Given the description of an element on the screen output the (x, y) to click on. 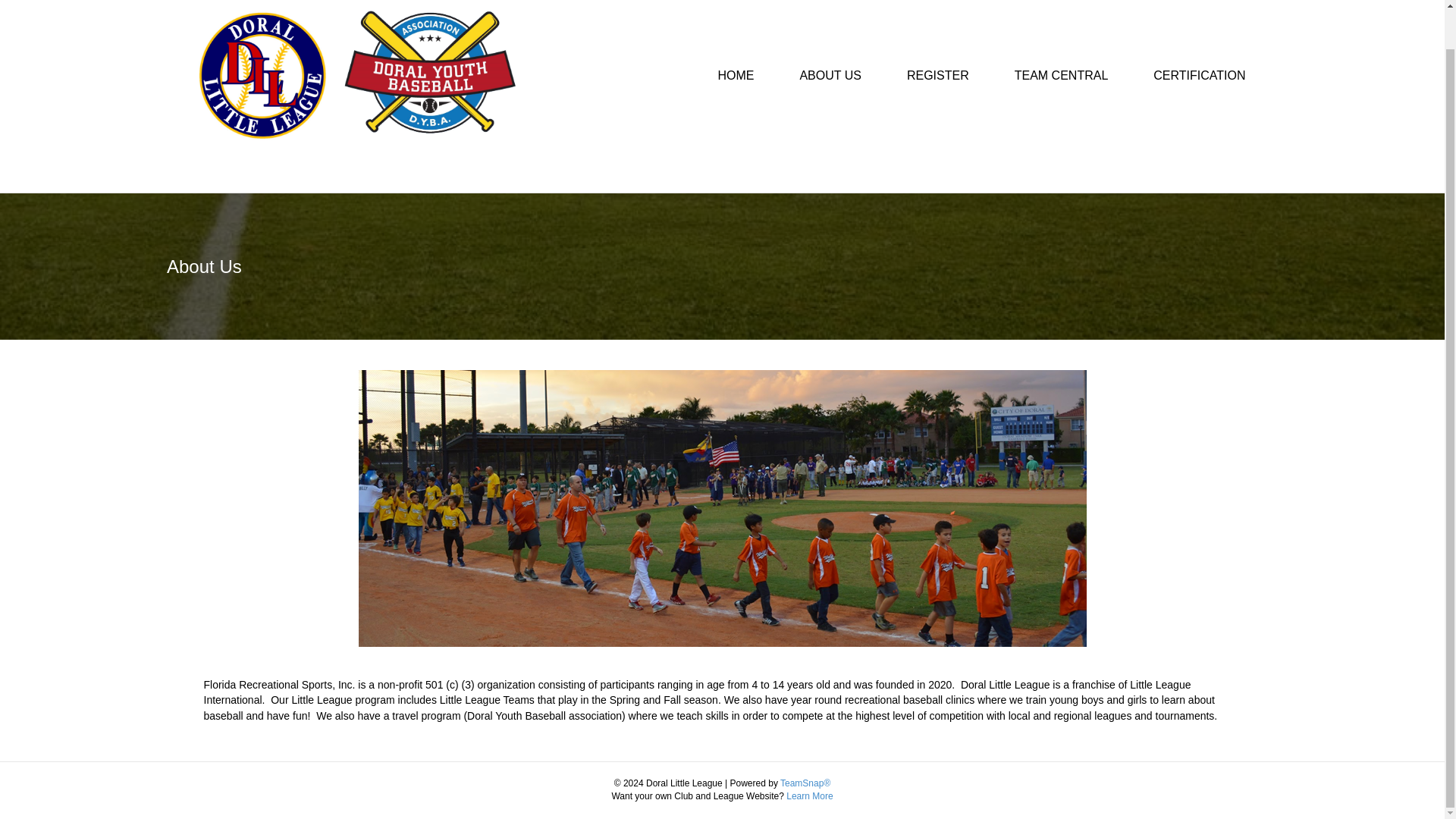
Learn More (809, 796)
Powered by TeamSnap (804, 783)
HOME (735, 75)
ABOUT US (829, 75)
CERTIFICATION (1199, 75)
REGISTER (937, 75)
TEAM CENTRAL (1061, 75)
